Given the description of an element on the screen output the (x, y) to click on. 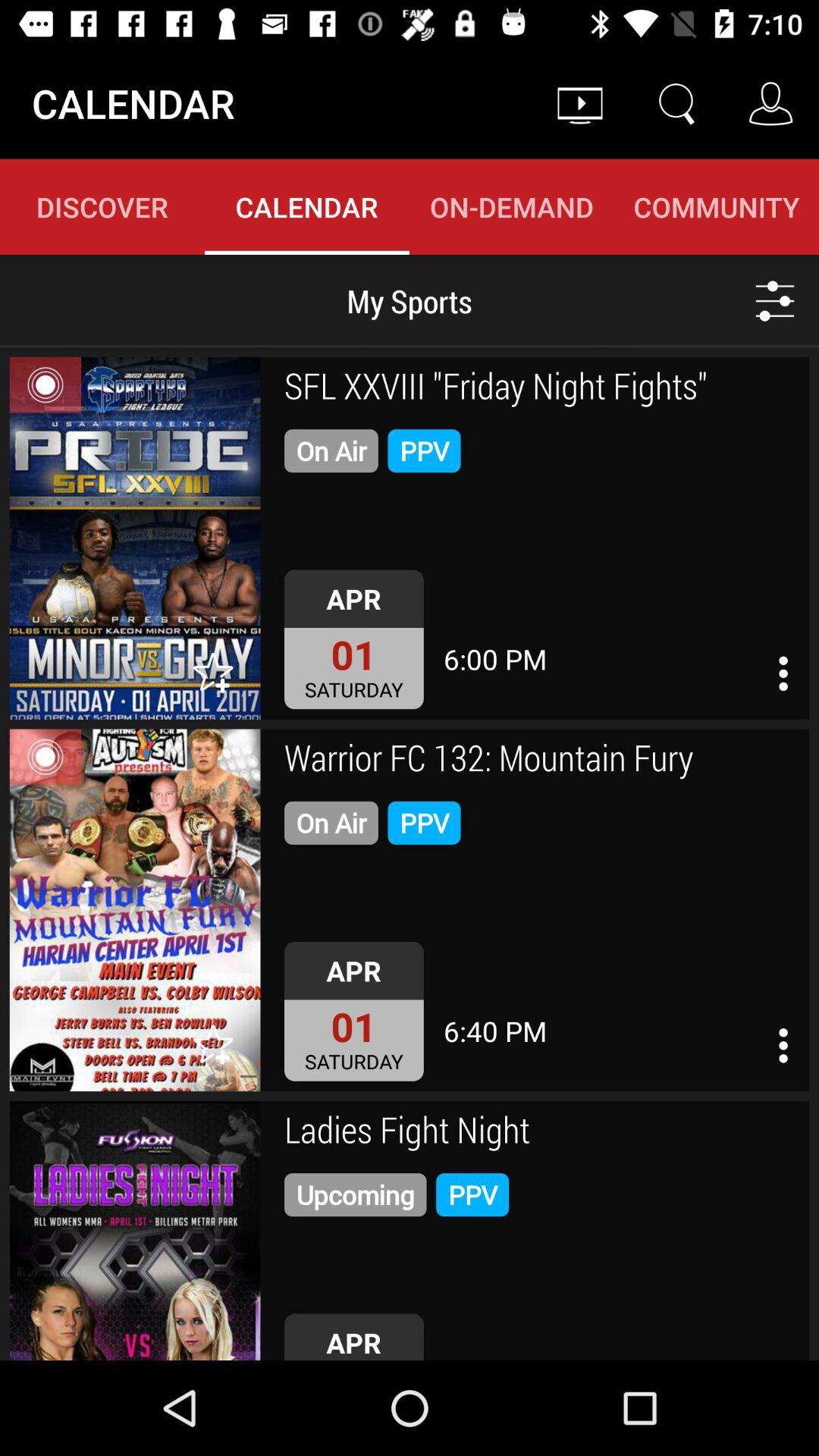
turn on sfl xxviii friday (541, 388)
